Given the description of an element on the screen output the (x, y) to click on. 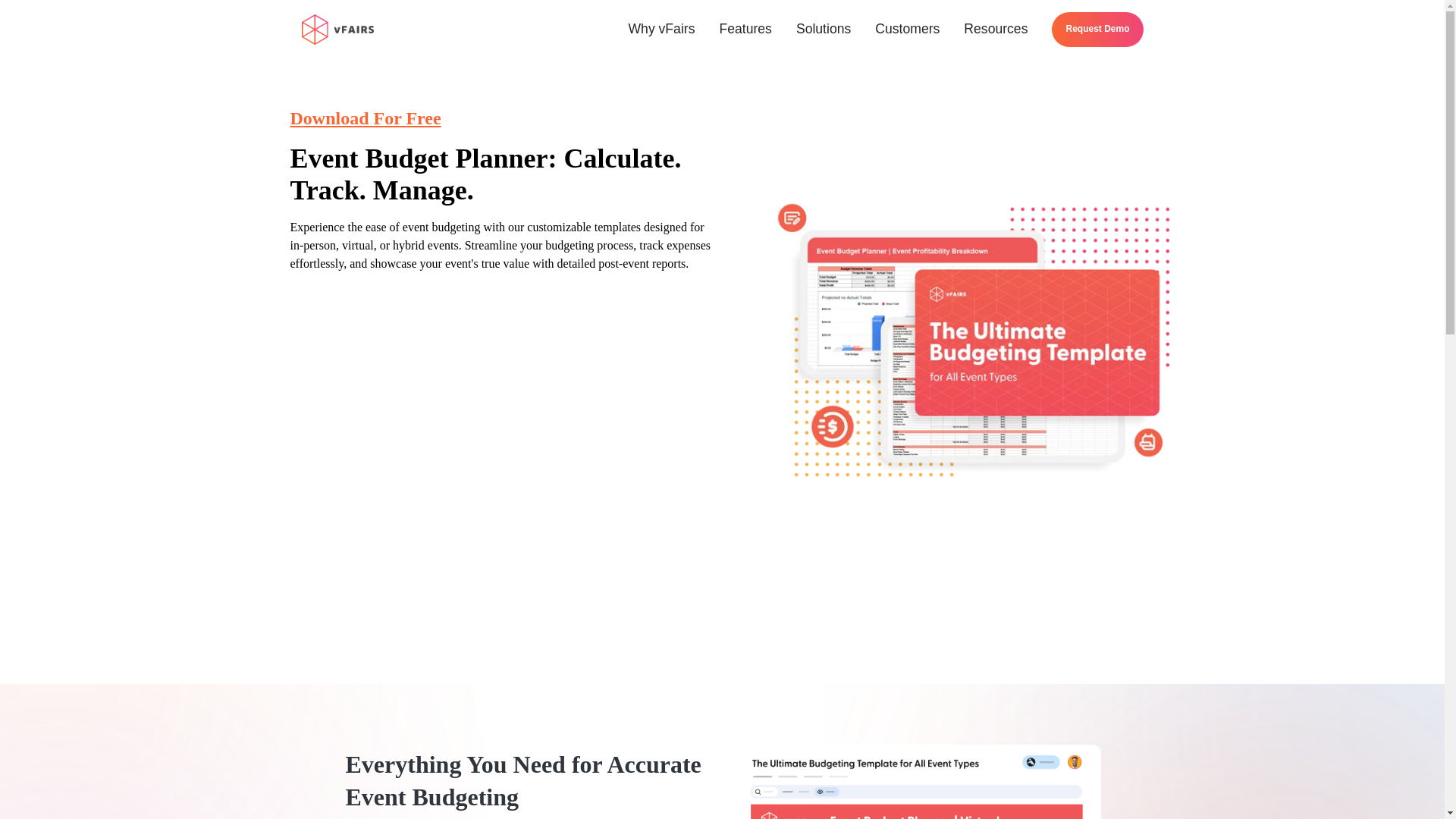
Why vFairs (660, 29)
Budget-Planner-GIF (916, 781)
Customers (907, 29)
Features (744, 29)
Resources (995, 29)
Request Demo (1096, 29)
Solutions (823, 29)
